Given the description of an element on the screen output the (x, y) to click on. 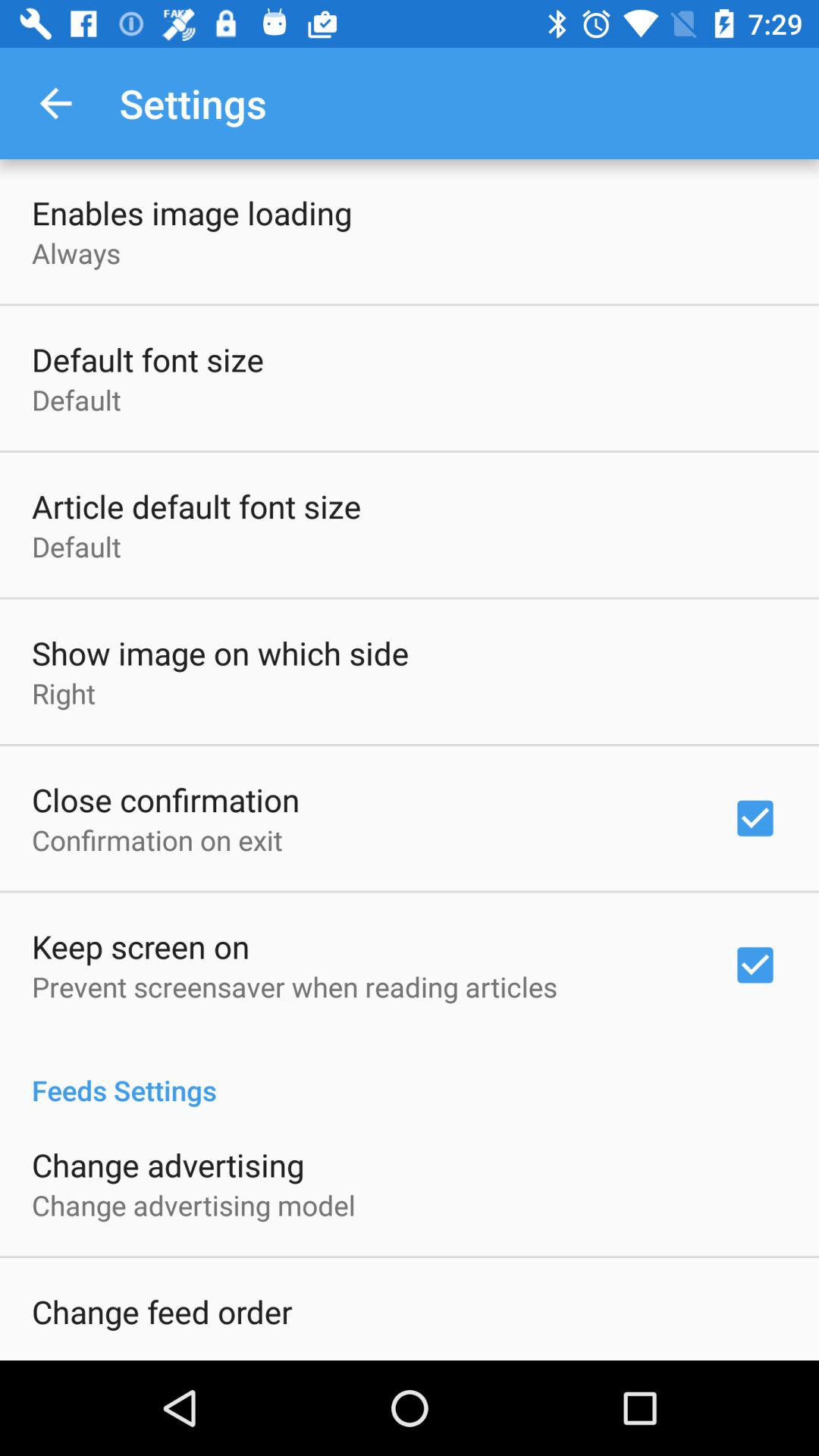
open right item (63, 693)
